Given the description of an element on the screen output the (x, y) to click on. 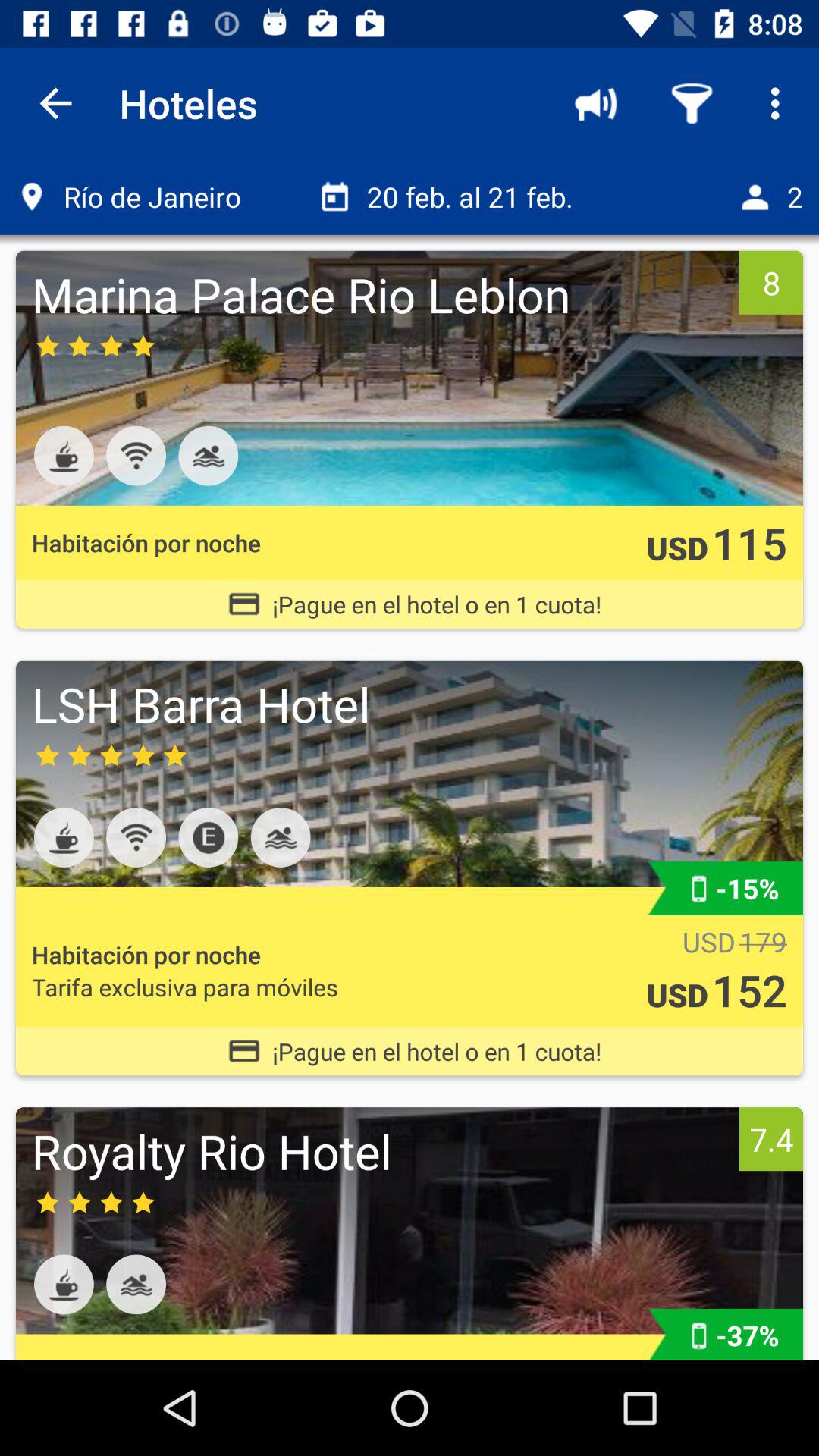
scroll to -37% icon (747, 1335)
